Given the description of an element on the screen output the (x, y) to click on. 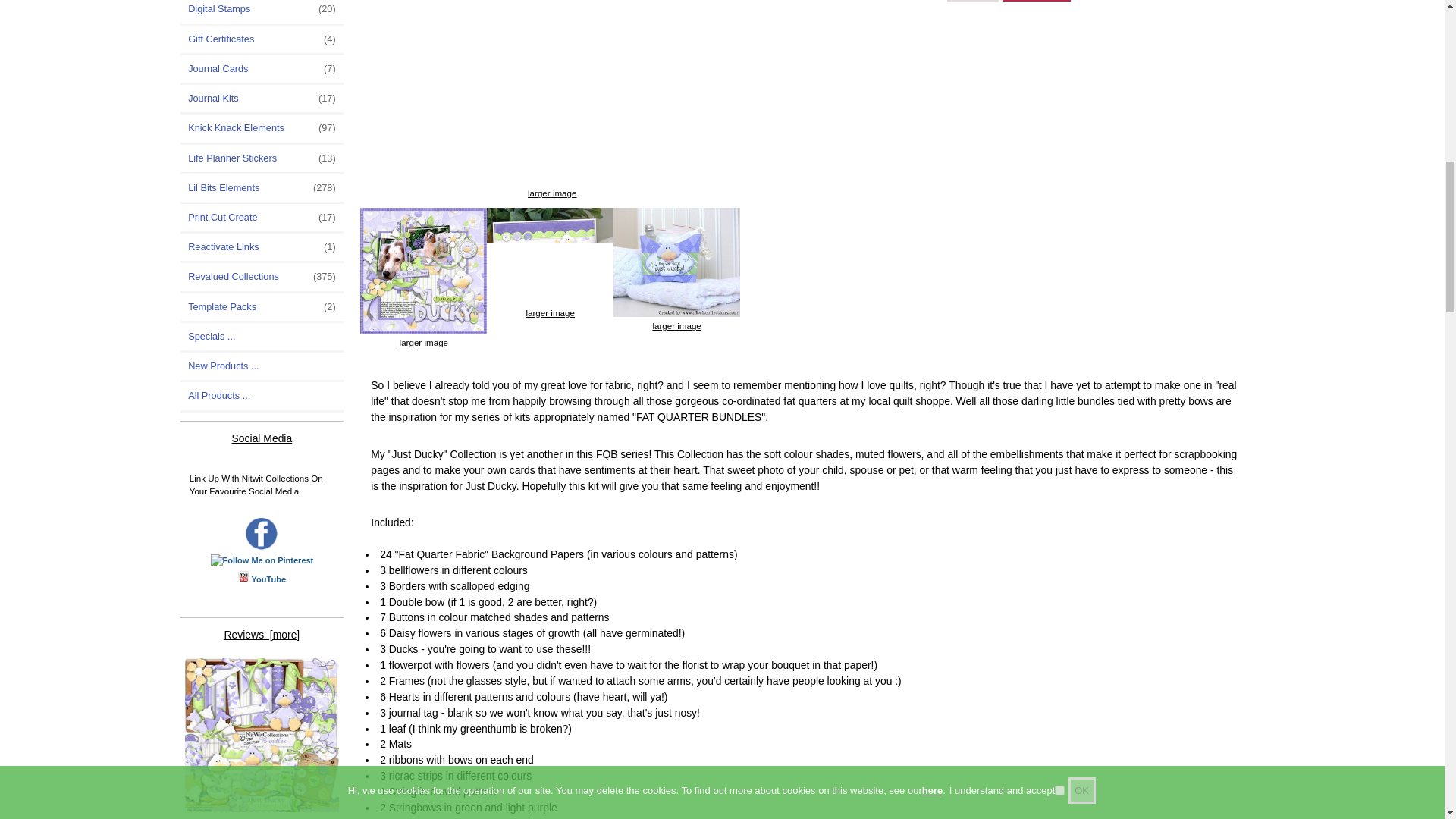
FQB - Just Ducky (675, 262)
FQB - Just Ducky (549, 256)
Add to Cart (1034, 0)
New Products ... (261, 366)
Specials ... (261, 336)
YouTube (268, 579)
FQB - Just Ducky (422, 270)
This is the cutest duck ever!!! He just melts your heart.... (261, 737)
FQB - Just Ducky (261, 735)
All Products ... (261, 395)
